Given the description of an element on the screen output the (x, y) to click on. 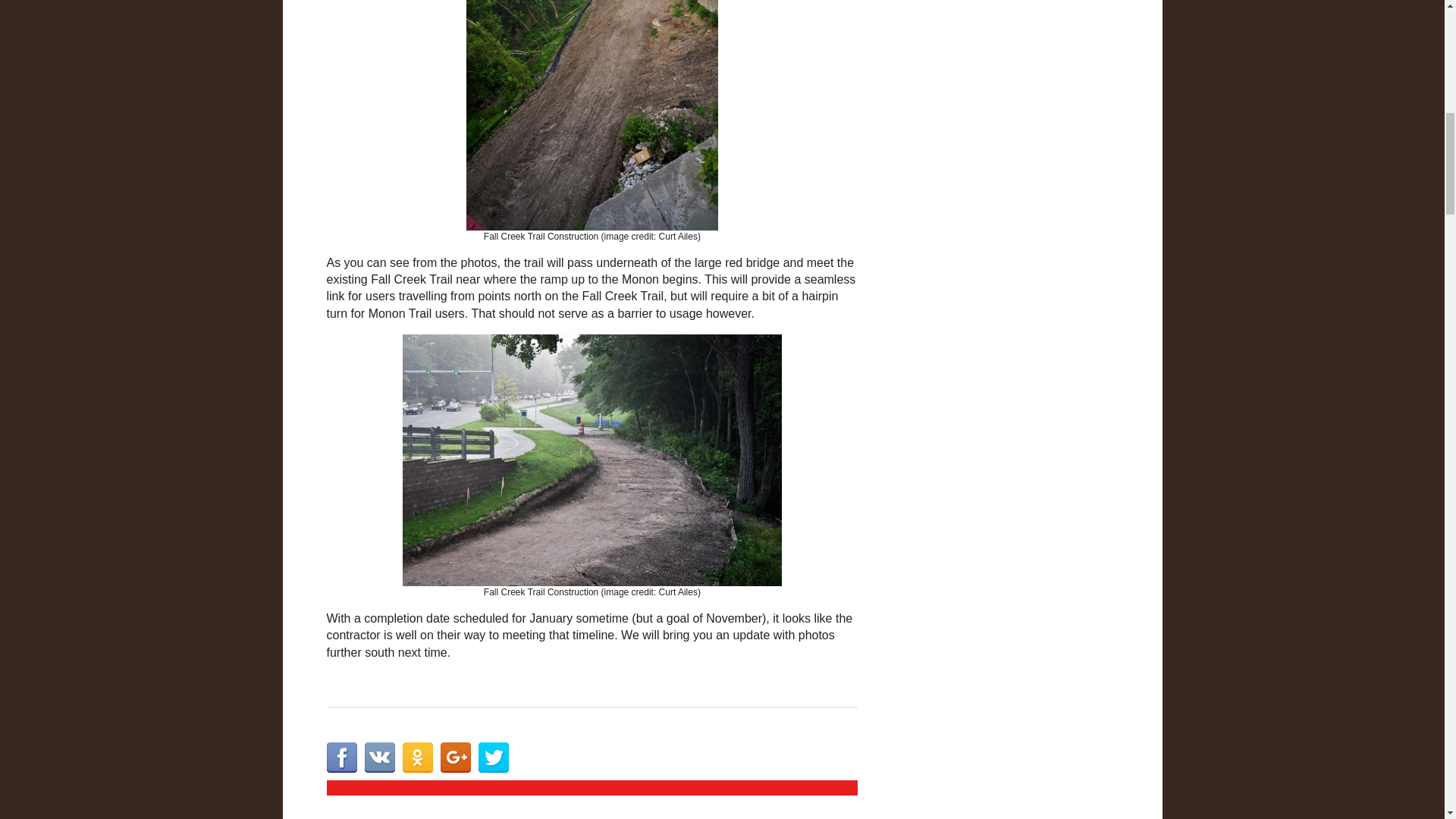
Share in Facebook (341, 757)
Share in OK (416, 757)
Share in VK (379, 757)
Share in Twitter (492, 757)
